Given the description of an element on the screen output the (x, y) to click on. 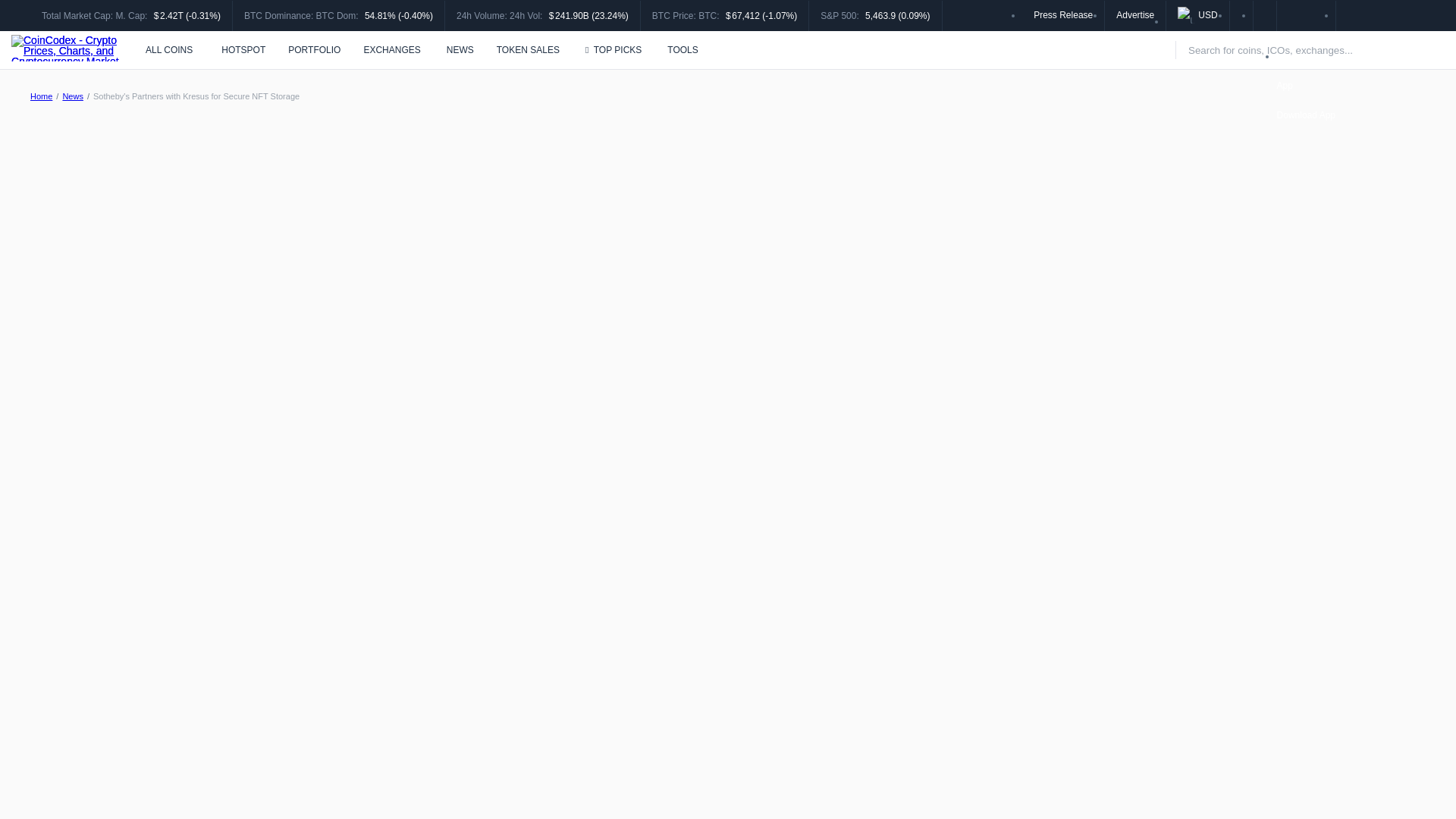
HOTSPOT (241, 49)
NEWS (459, 49)
Advertise (1135, 14)
Home (41, 95)
News (72, 95)
PORTFOLIO (314, 49)
Press Release (1063, 14)
